Given the description of an element on the screen output the (x, y) to click on. 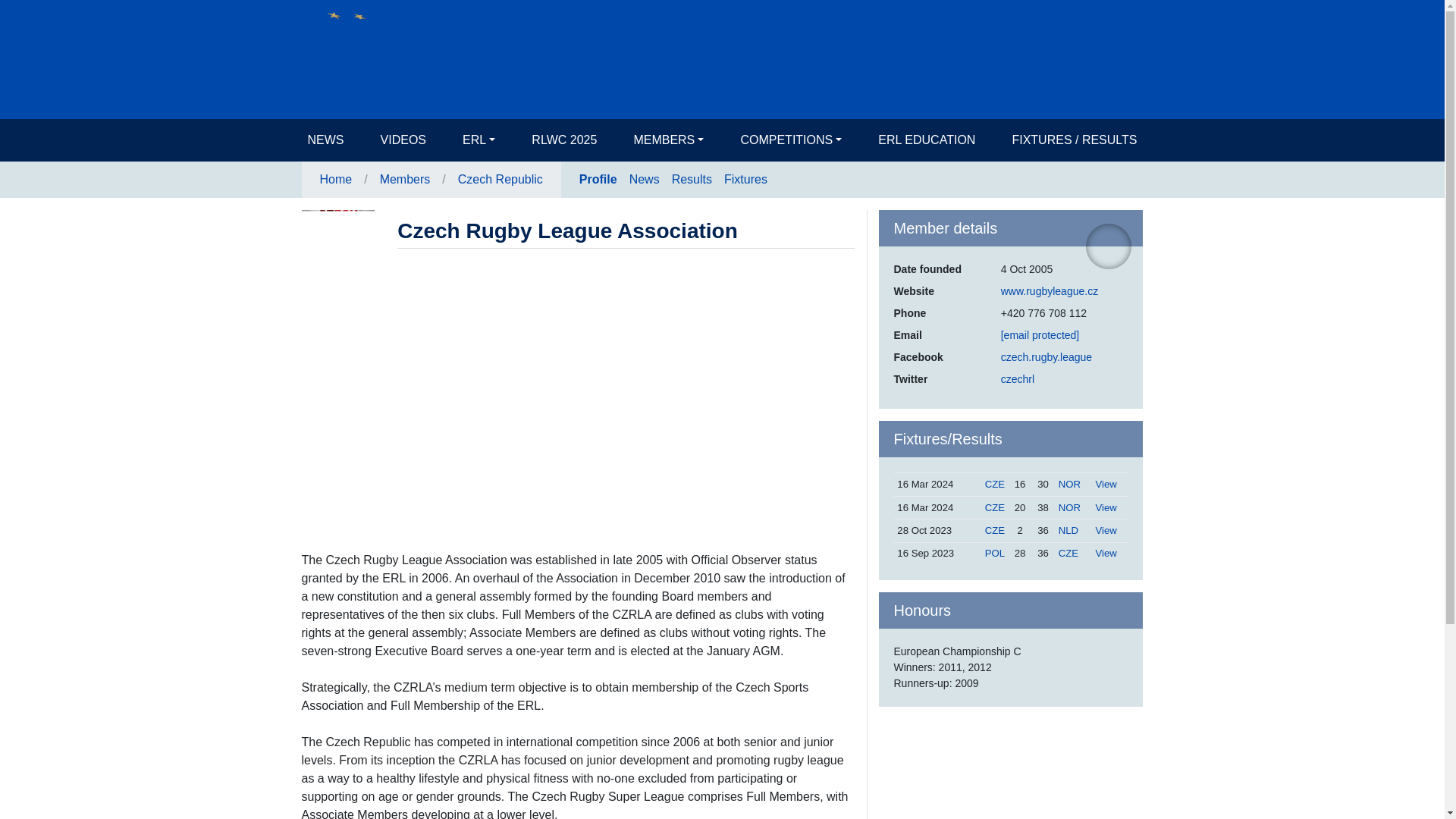
MEMBERS (668, 140)
RLWC 2025 (563, 140)
NEWS (325, 140)
VIDEOS (403, 140)
ERL (478, 140)
